Given the description of an element on the screen output the (x, y) to click on. 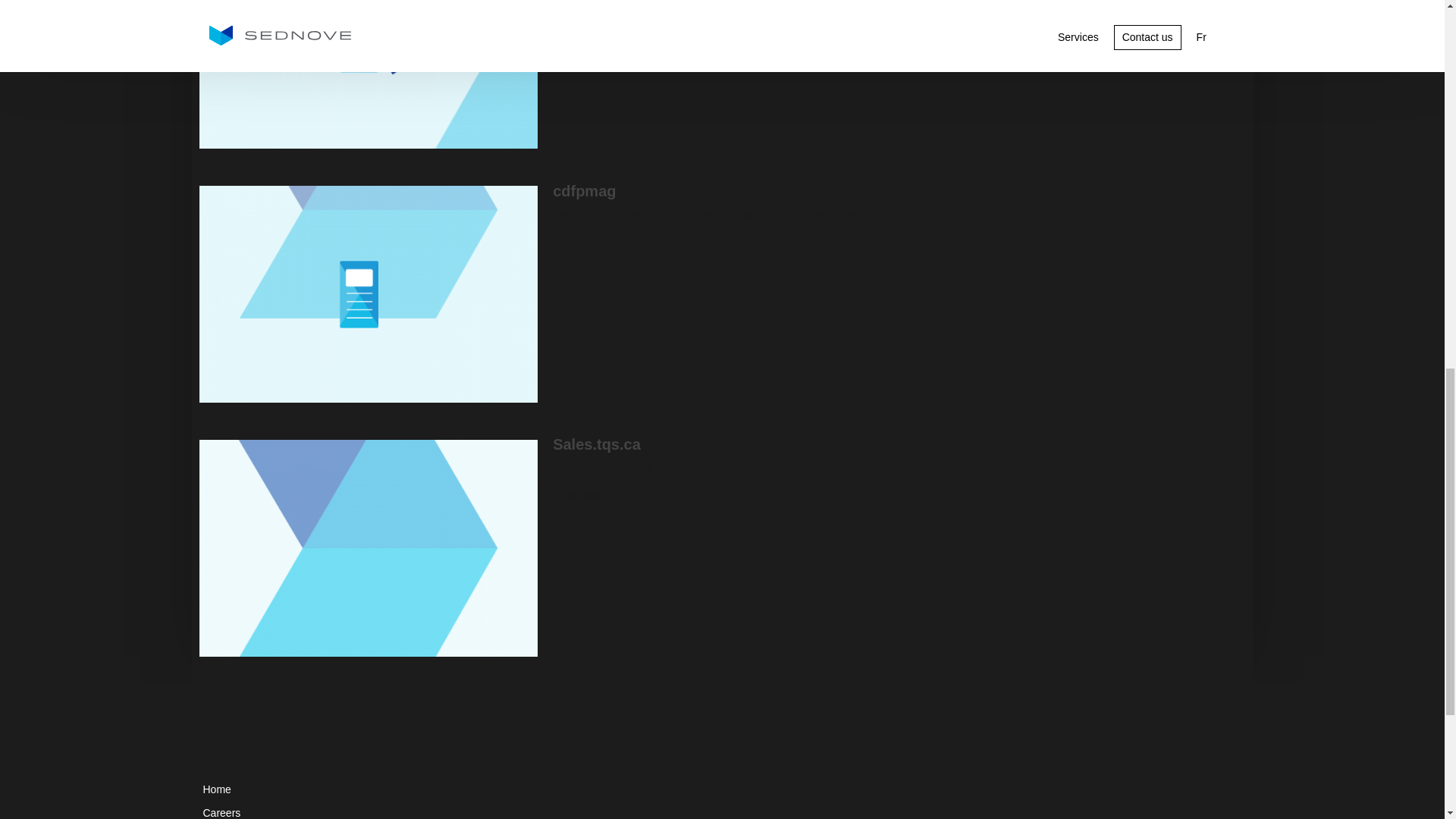
Sales.tqs.ca (596, 443)
cdfpmag (367, 293)
Yves Lacombe (367, 74)
Home (589, 789)
Sales.tqs.ca (367, 547)
cdfpmag (584, 190)
